Given the description of an element on the screen output the (x, y) to click on. 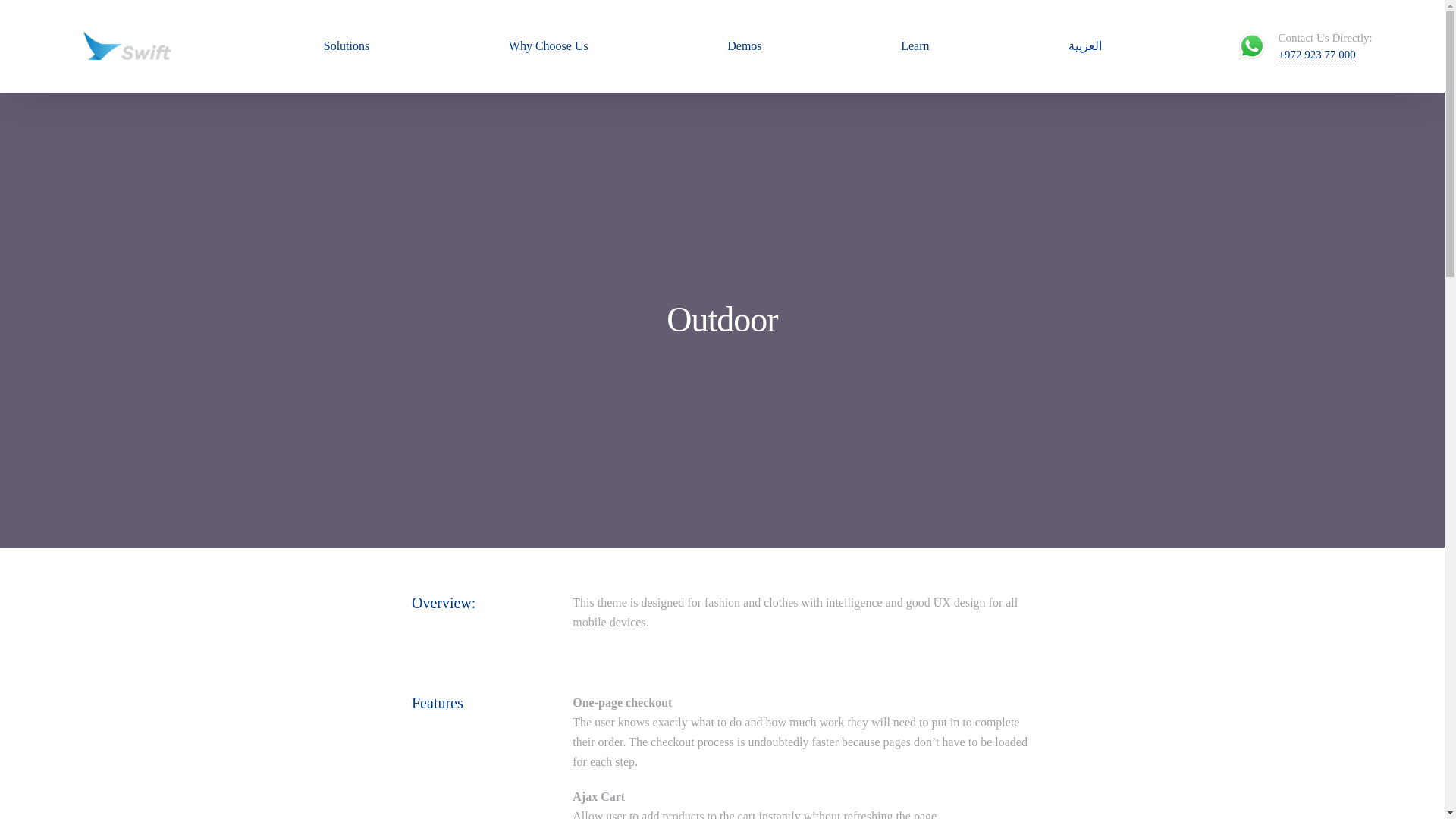
Learn (914, 46)
Solutions (346, 46)
Why Choose Us (548, 46)
Demos (744, 46)
